Given the description of an element on the screen output the (x, y) to click on. 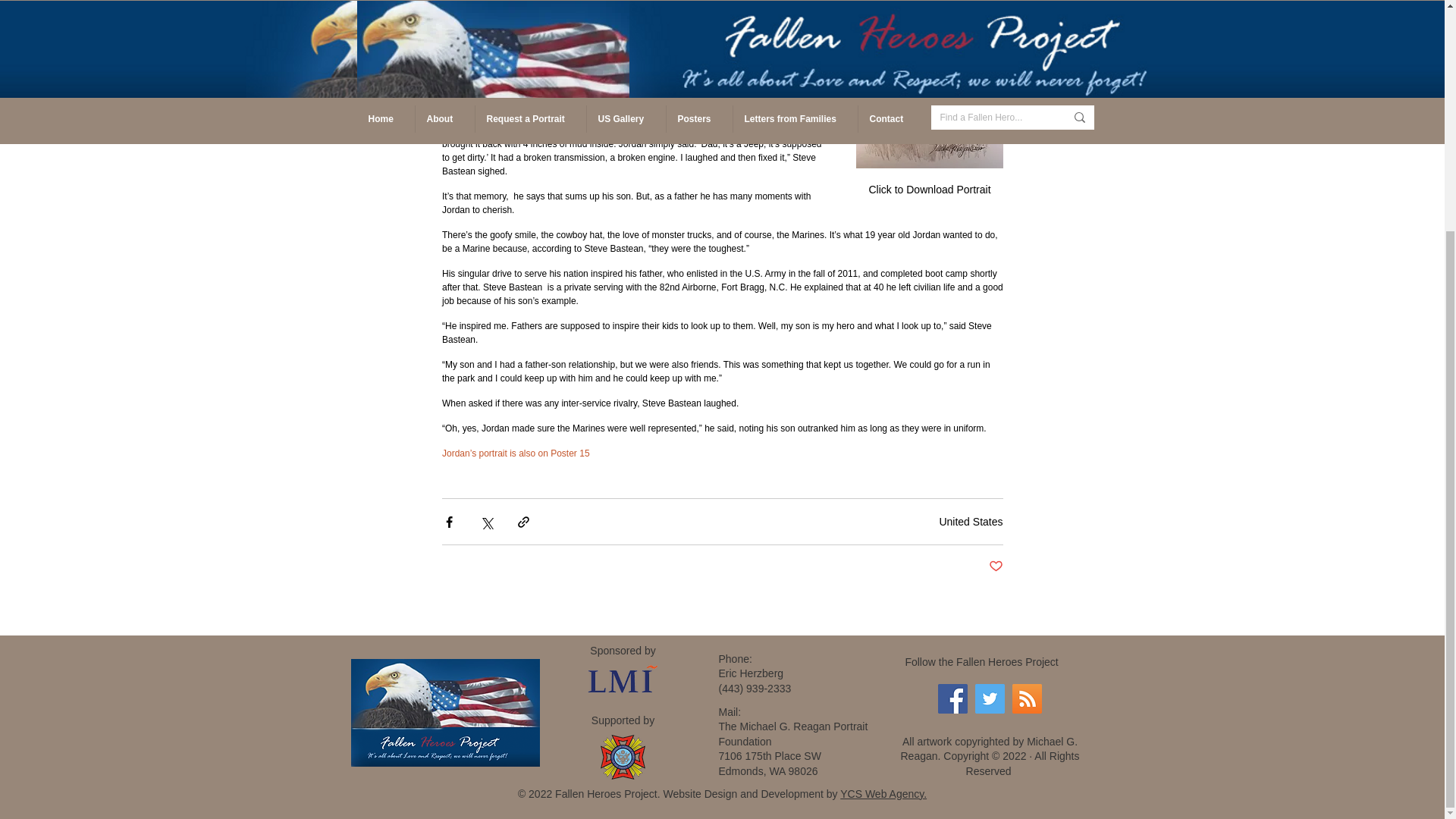
YCS Web Agency. (883, 793)
United States (971, 521)
Post not marked as liked (995, 566)
